Given the description of an element on the screen output the (x, y) to click on. 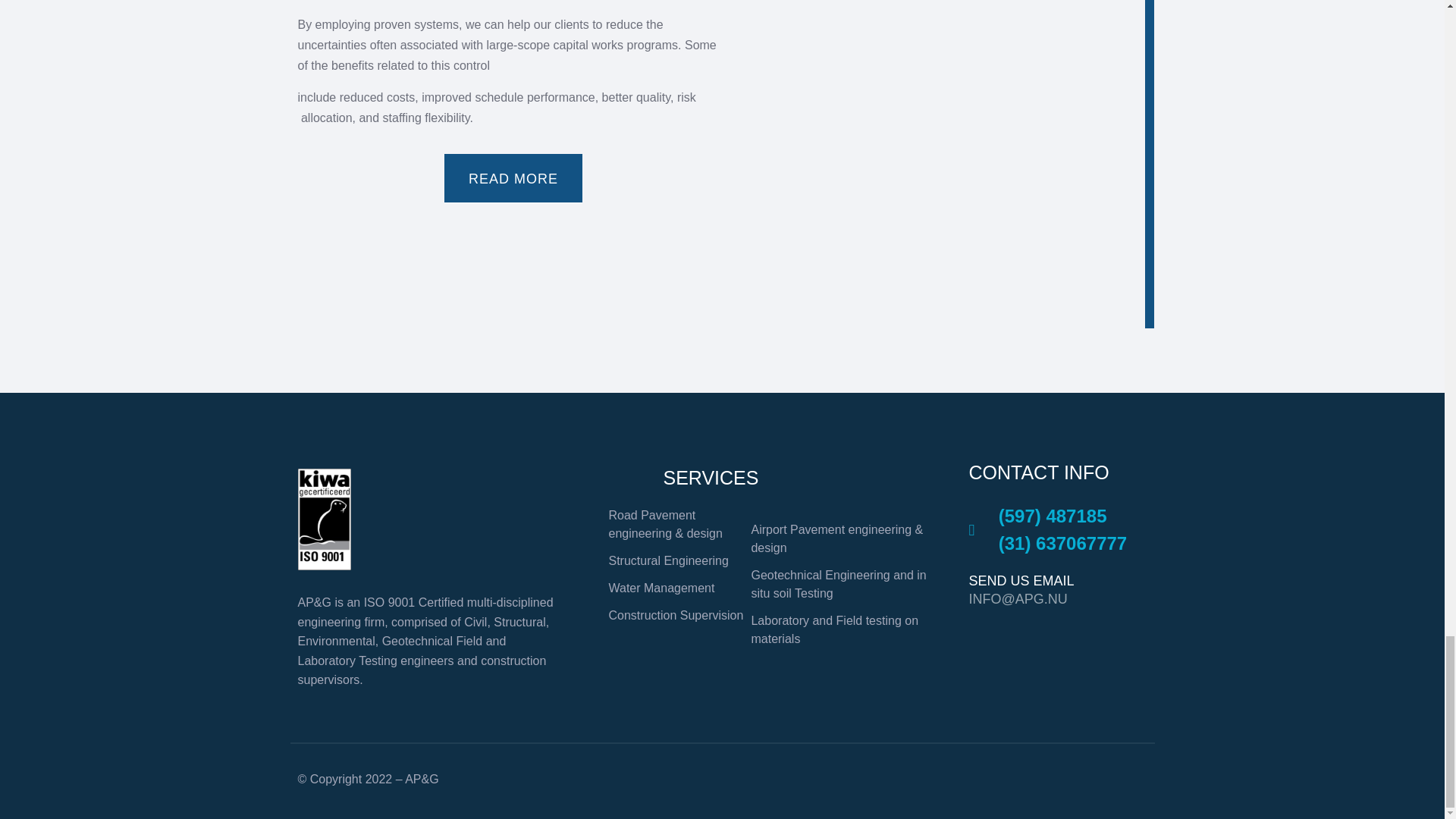
Laboratory and Field testing on materials (840, 629)
Water Management (675, 588)
Structural Engineering (675, 561)
Construction Supervision (675, 615)
READ MORE (513, 178)
Geotechnical Engineering and in situ soil Testing (840, 584)
